Given the description of an element on the screen output the (x, y) to click on. 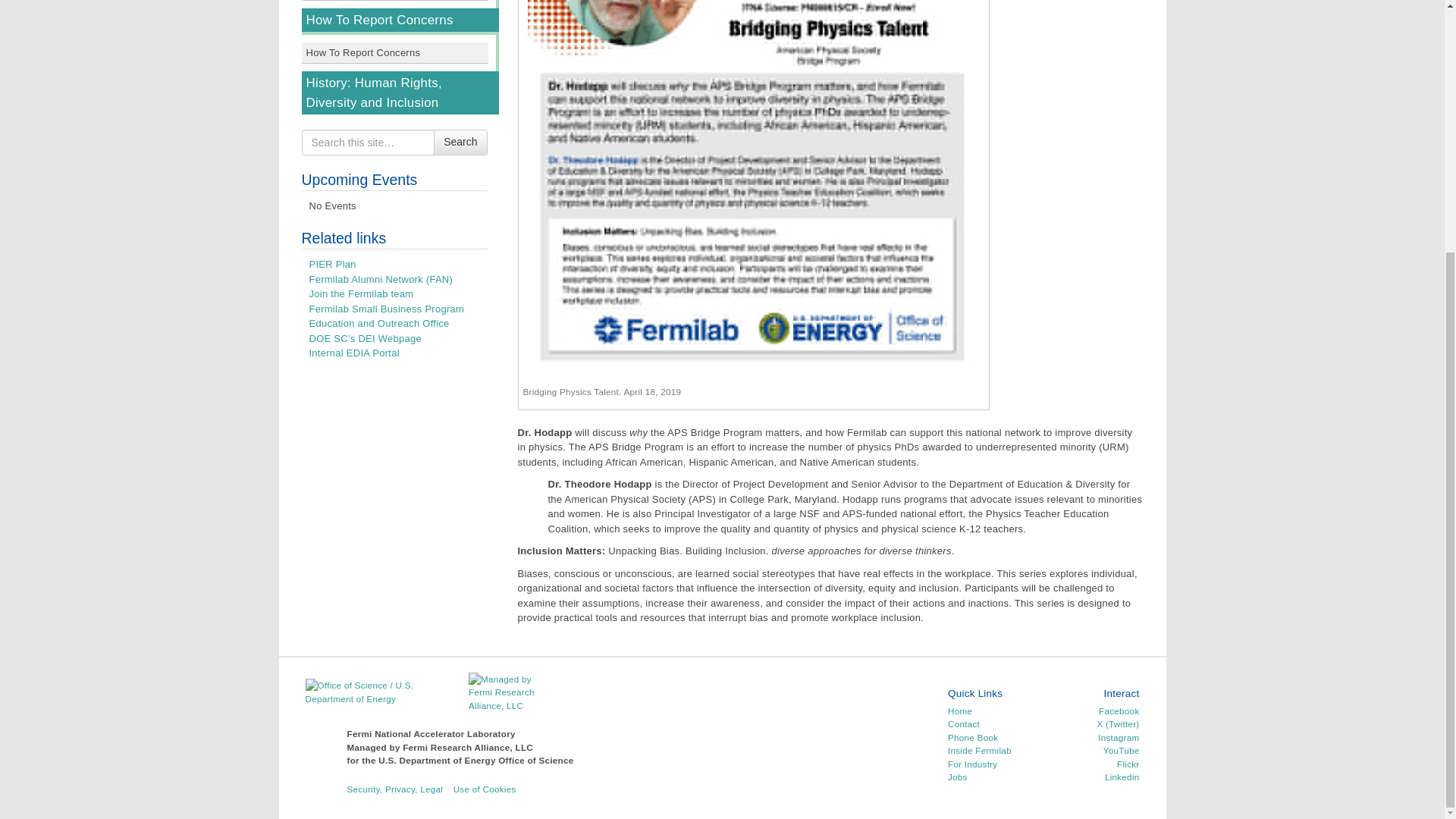
Search for: (368, 142)
